Given the description of an element on the screen output the (x, y) to click on. 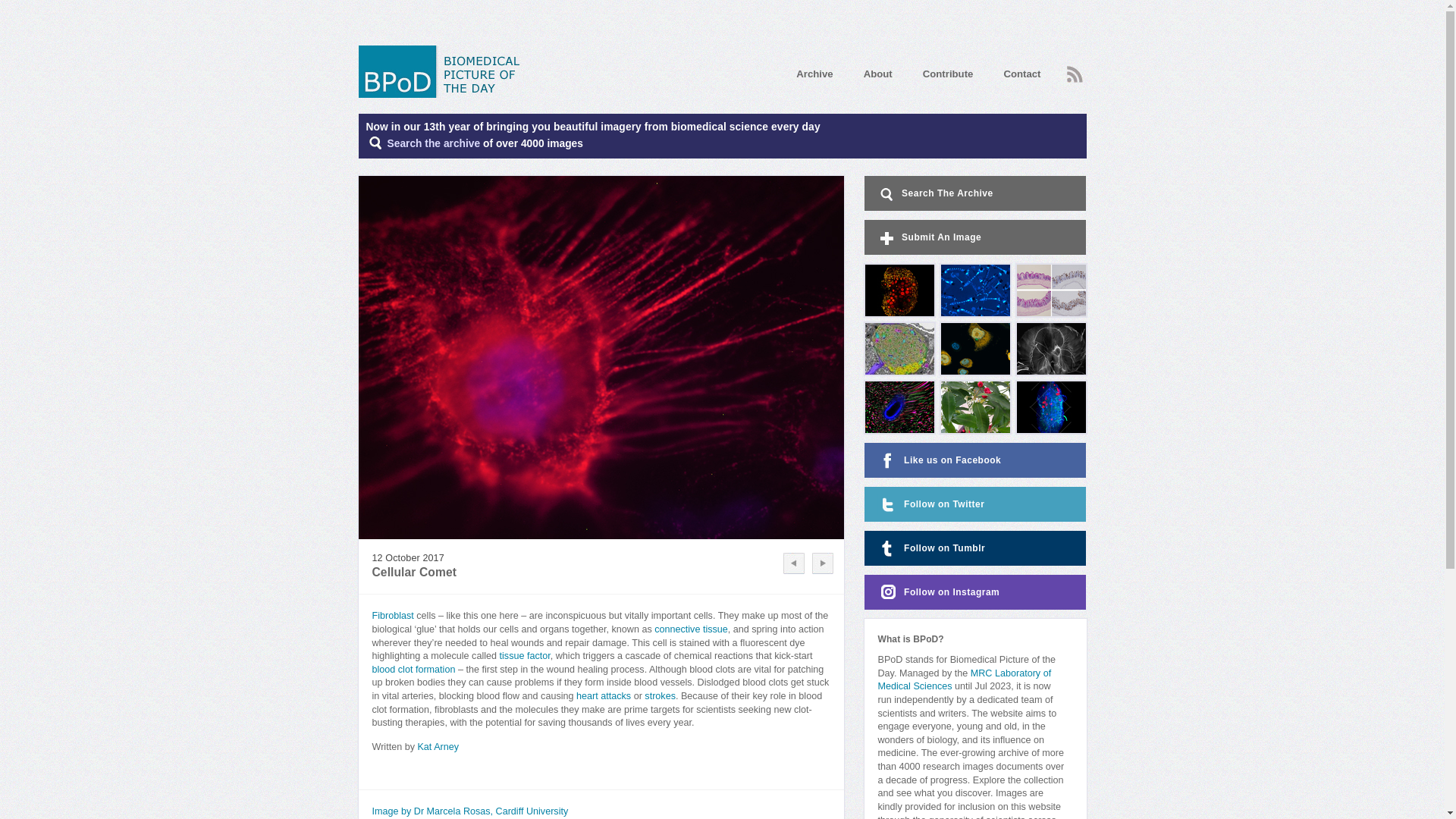
Kat Arney (437, 747)
Home (443, 71)
Contact (1022, 73)
Follow BPoD on Facebook (975, 460)
Search the archive (433, 143)
Image by Dr Marcela Rosas, Cardiff University (469, 810)
Submit An Image (975, 237)
strokes (660, 696)
RSS (1073, 74)
Contribute (948, 73)
